Given the description of an element on the screen output the (x, y) to click on. 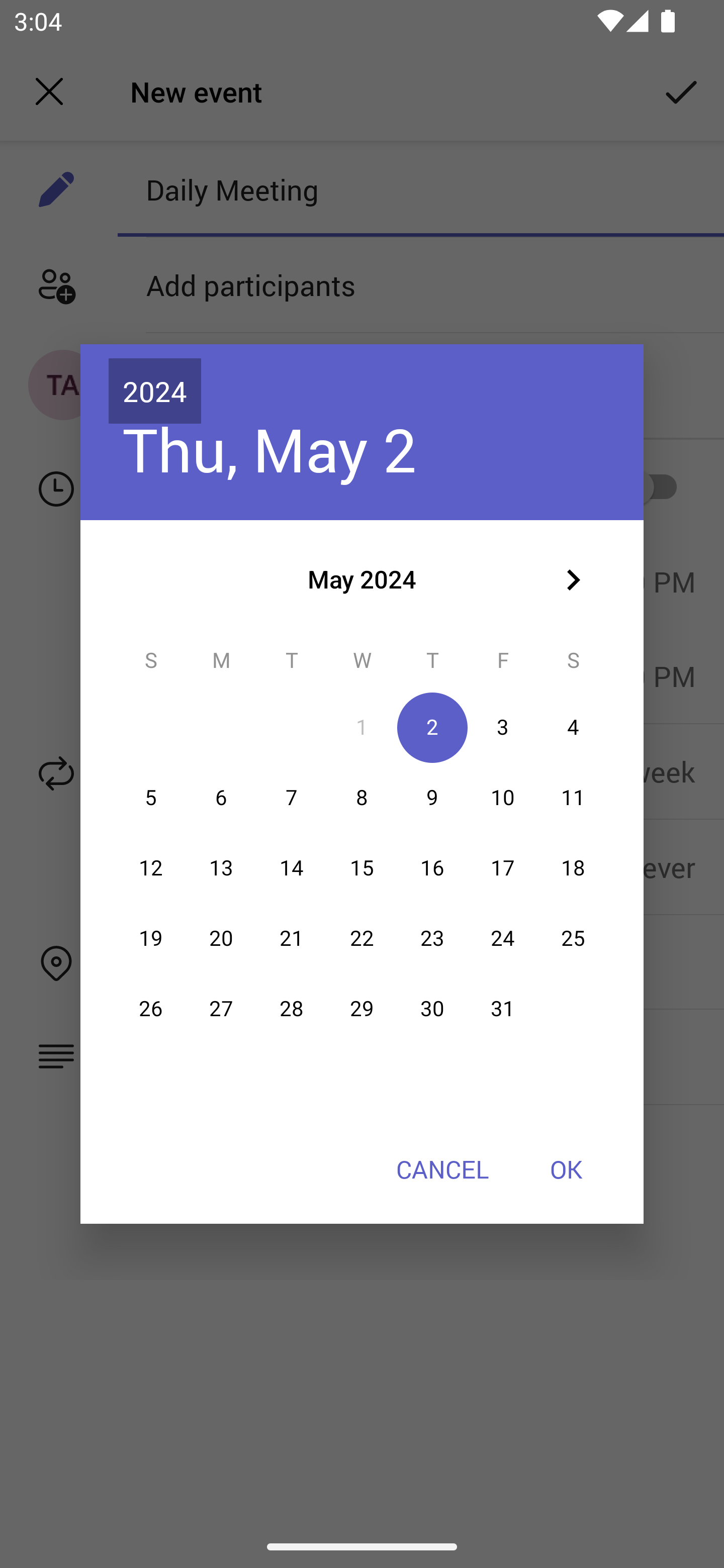
2024 (154, 391)
Thu, May 2 (269, 449)
Next month (572, 579)
1 01 May 2024 (361, 728)
2 02 May 2024 (432, 728)
3 03 May 2024 (502, 728)
4 04 May 2024 (572, 728)
5 05 May 2024 (150, 797)
6 06 May 2024 (221, 797)
7 07 May 2024 (291, 797)
8 08 May 2024 (361, 797)
9 09 May 2024 (432, 797)
10 10 May 2024 (502, 797)
11 11 May 2024 (572, 797)
12 12 May 2024 (150, 867)
13 13 May 2024 (221, 867)
14 14 May 2024 (291, 867)
15 15 May 2024 (361, 867)
16 16 May 2024 (432, 867)
17 17 May 2024 (502, 867)
18 18 May 2024 (572, 867)
19 19 May 2024 (150, 938)
20 20 May 2024 (221, 938)
21 21 May 2024 (291, 938)
22 22 May 2024 (361, 938)
23 23 May 2024 (432, 938)
24 24 May 2024 (502, 938)
25 25 May 2024 (572, 938)
26 26 May 2024 (150, 1008)
27 27 May 2024 (221, 1008)
28 28 May 2024 (291, 1008)
29 29 May 2024 (361, 1008)
30 30 May 2024 (432, 1008)
31 31 May 2024 (502, 1008)
CANCEL (442, 1168)
OK (565, 1168)
